Given the description of an element on the screen output the (x, y) to click on. 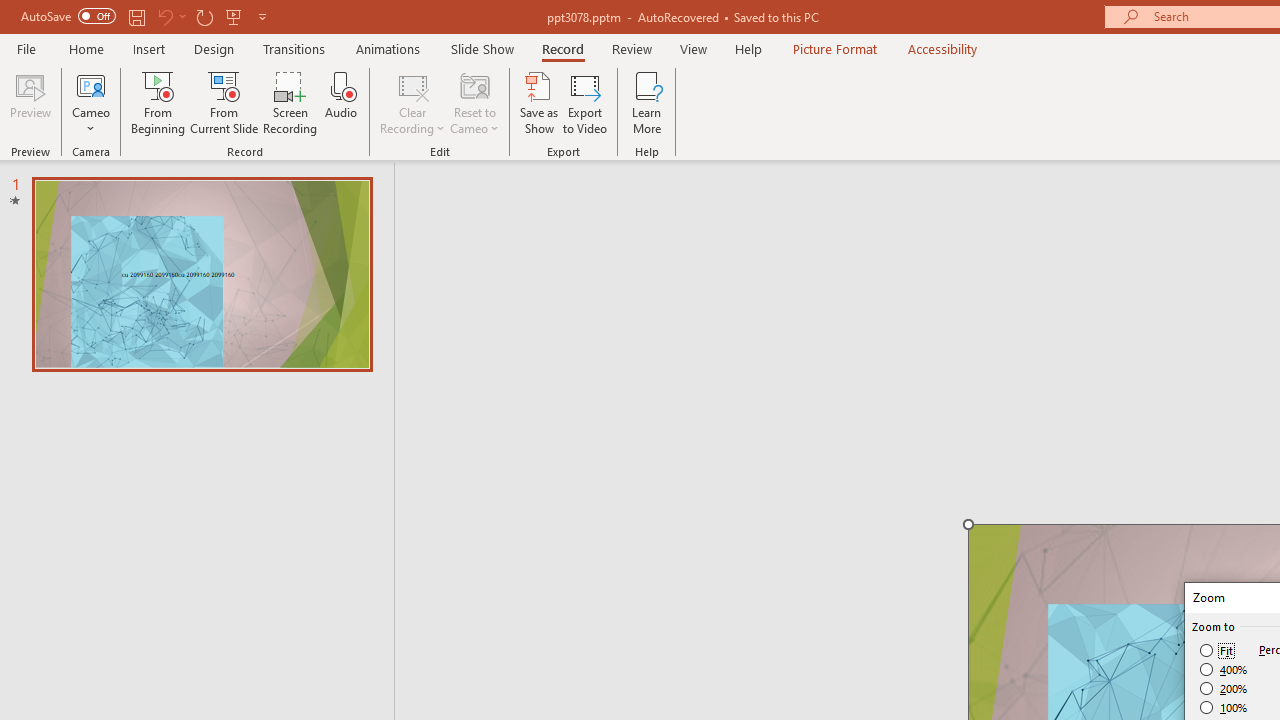
From Beginning... (158, 102)
200% (1224, 688)
Picture Format (834, 48)
